Given the description of an element on the screen output the (x, y) to click on. 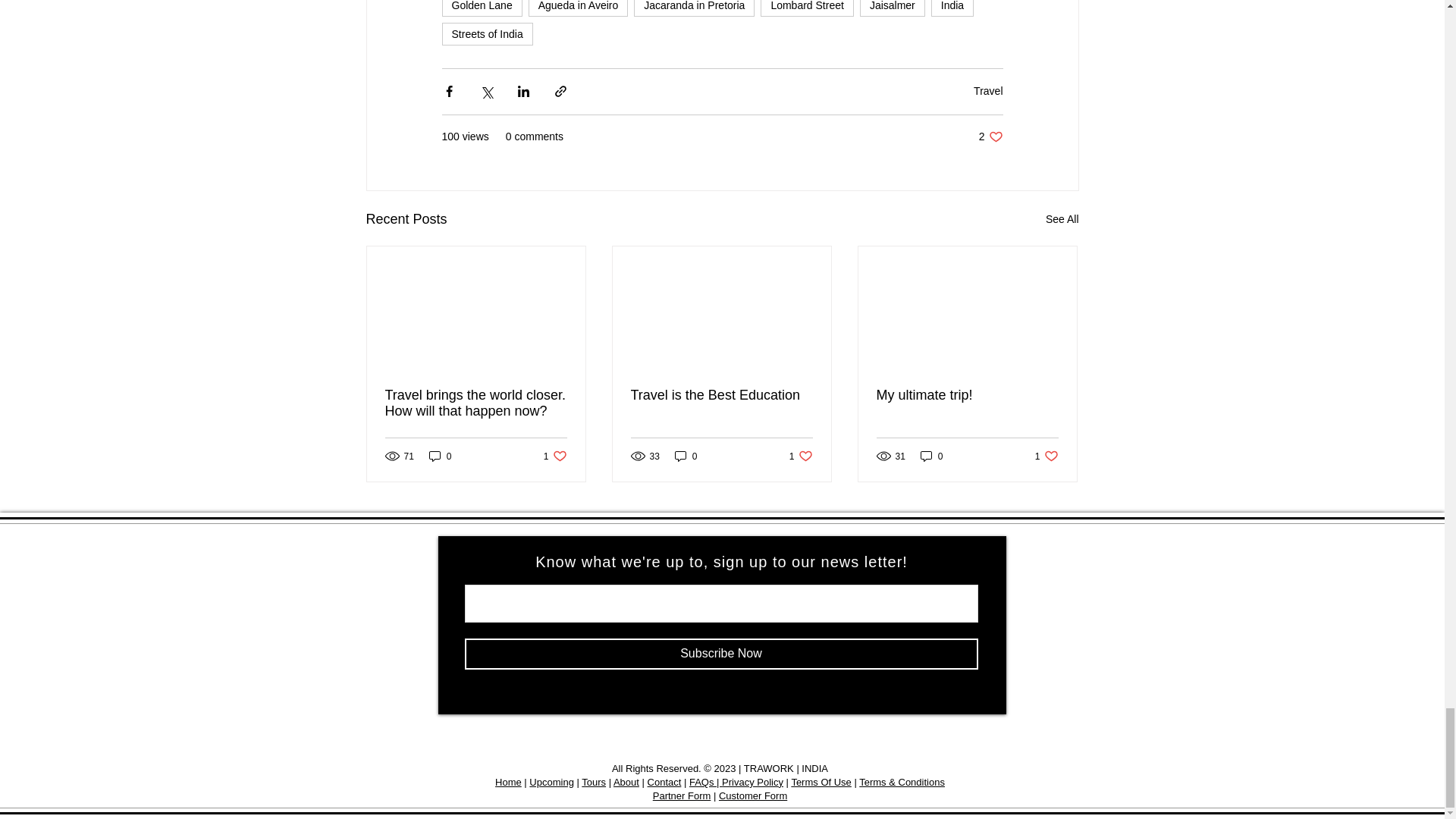
Jaisalmer (892, 8)
Golden Lane (481, 8)
Jacaranda in Pretoria (693, 8)
Agueda in Aveiro (578, 8)
Lombard Street (806, 8)
